Given the description of an element on the screen output the (x, y) to click on. 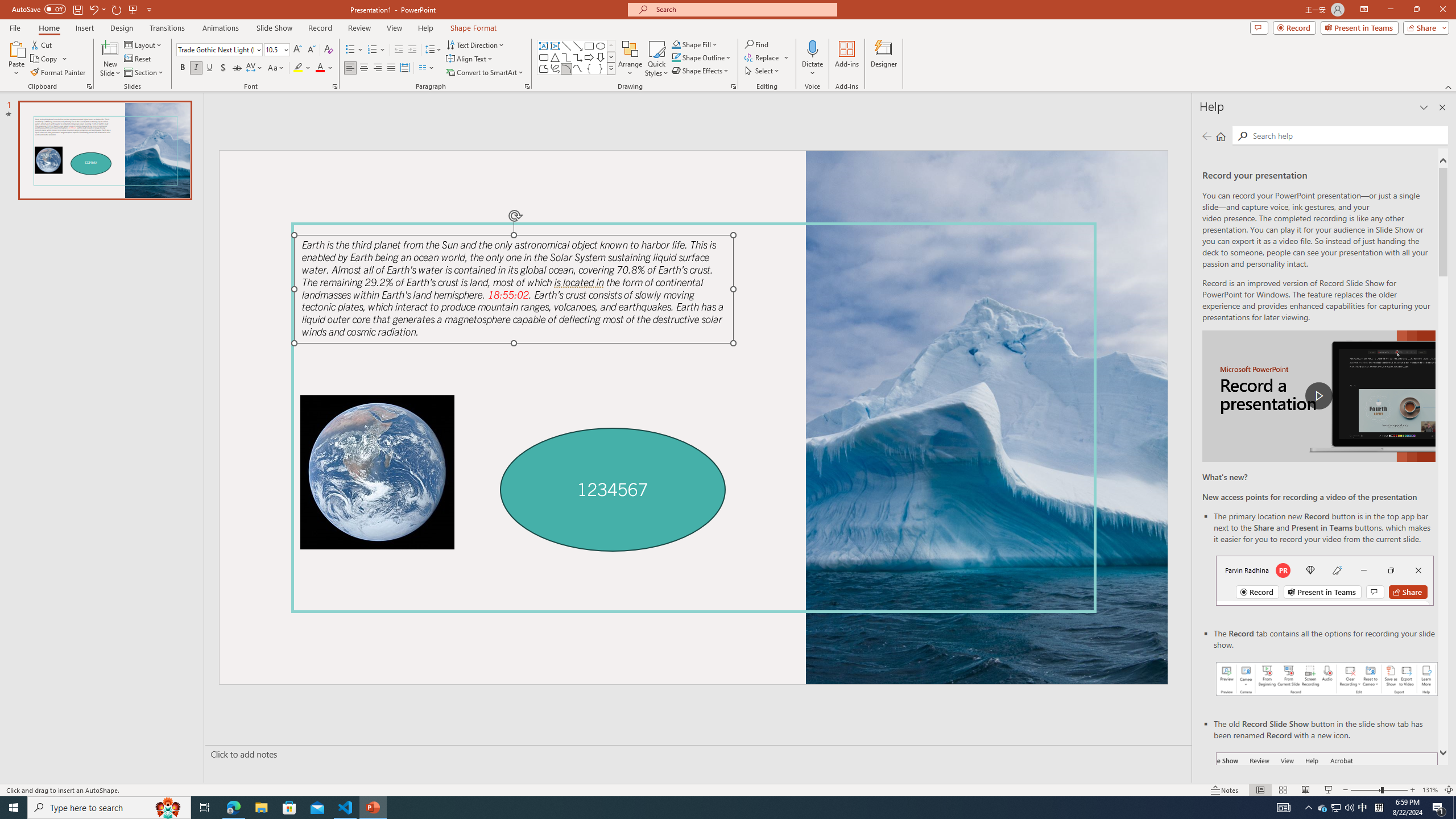
Record button in top bar (1324, 580)
